Given the description of an element on the screen output the (x, y) to click on. 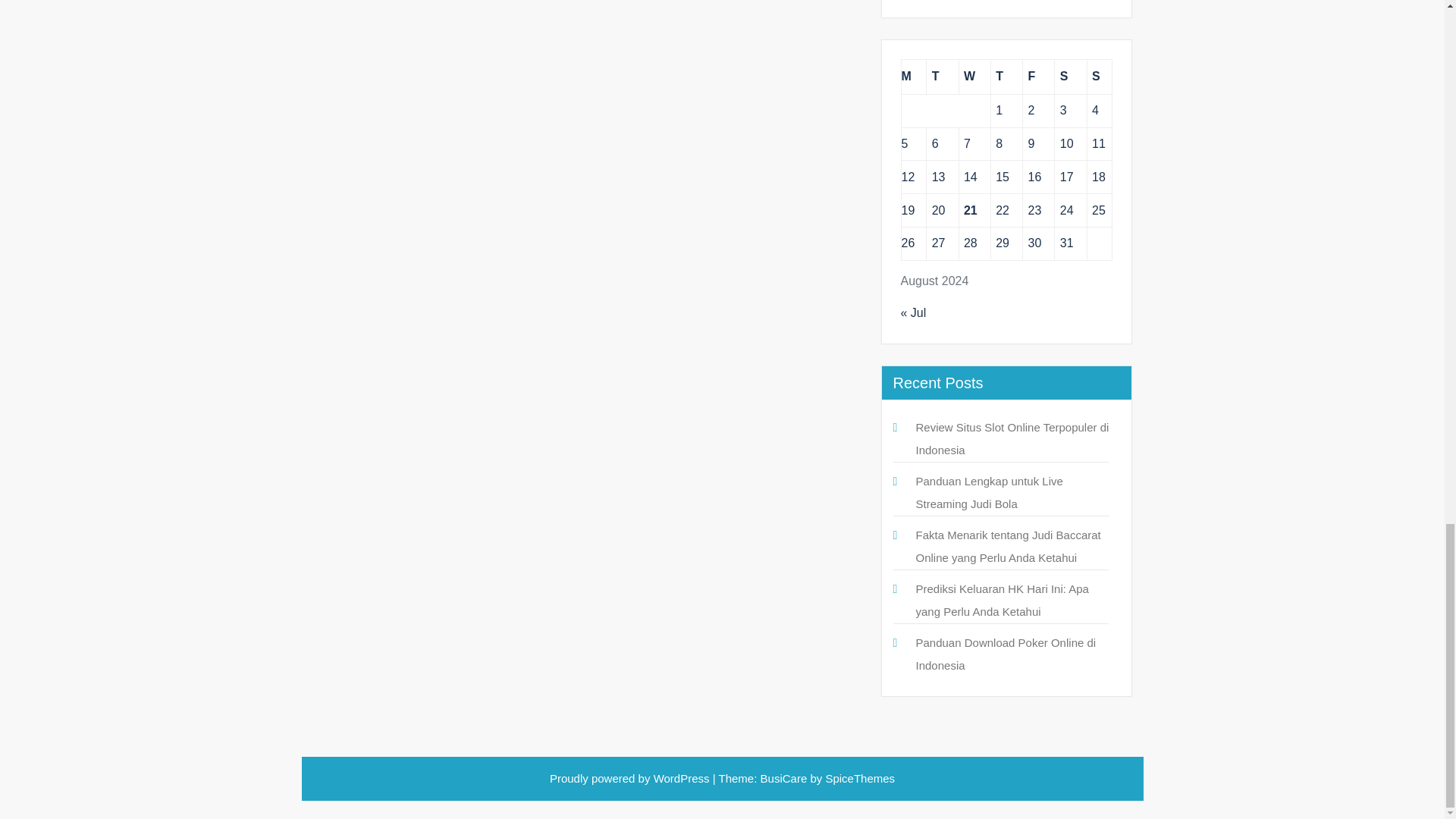
Saturday (1070, 76)
Friday (1038, 76)
Wednesday (974, 76)
Tuesday (942, 76)
Thursday (1006, 76)
